Given the description of an element on the screen output the (x, y) to click on. 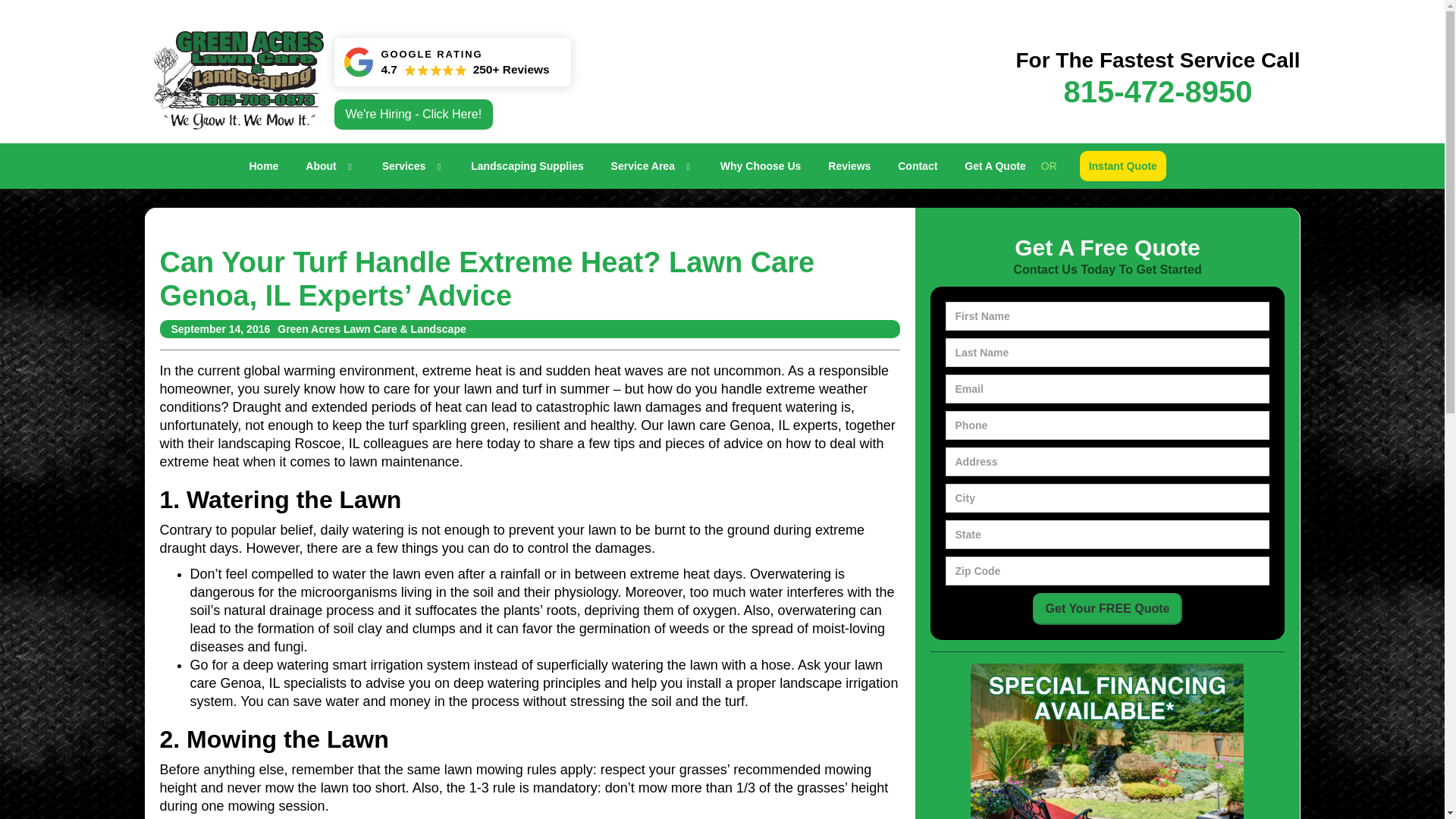
About (330, 166)
Get Your FREE Quote (1107, 608)
Services (413, 166)
We'Re Hiring - Click Here! (413, 114)
Landscaping Supplies (1157, 79)
Service Area (526, 166)
Home (651, 166)
